Given the description of an element on the screen output the (x, y) to click on. 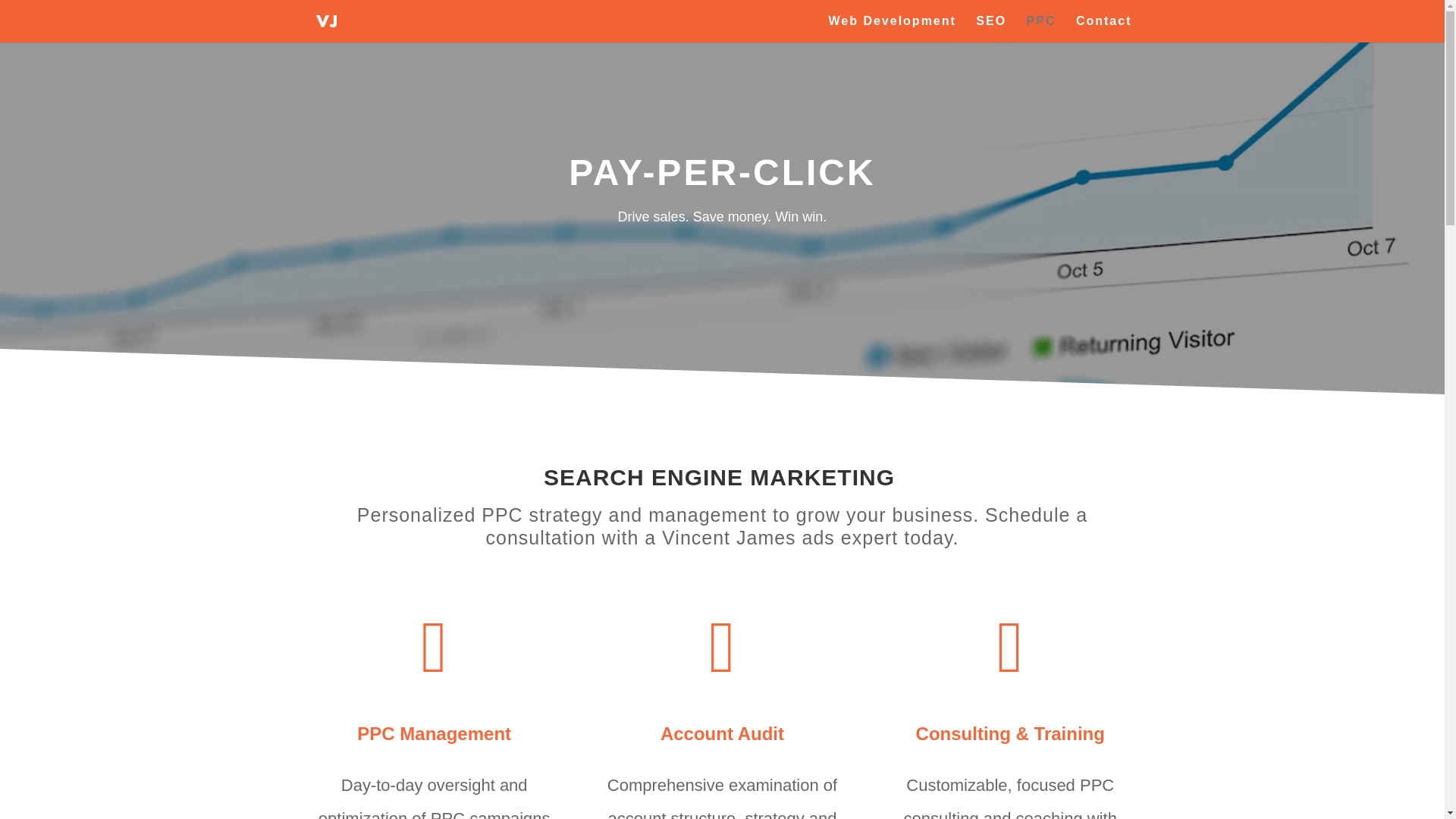
SEO (990, 28)
Contact (1103, 28)
PPC (1041, 28)
Web Development (891, 28)
